Given the description of an element on the screen output the (x, y) to click on. 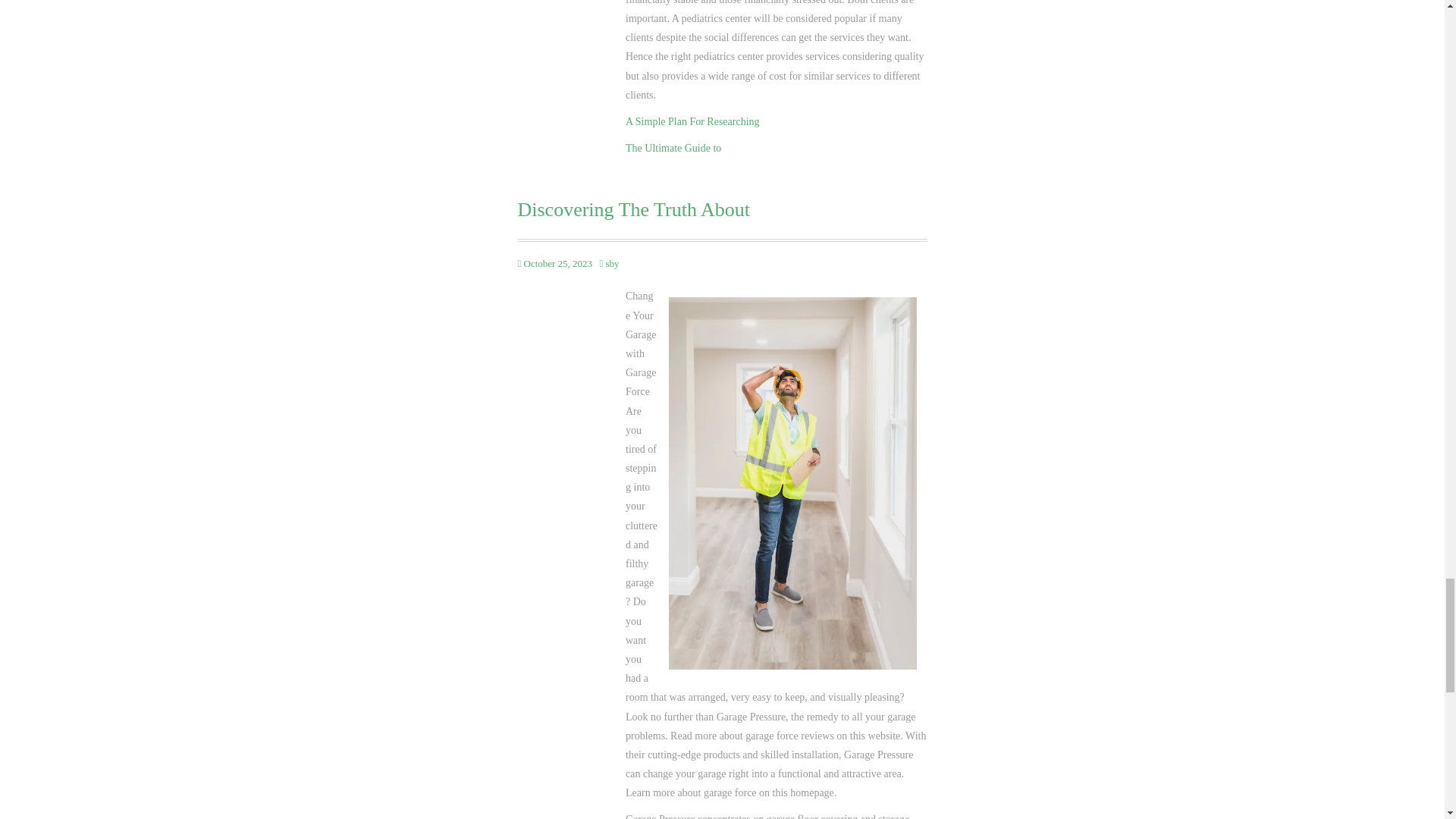
sby (611, 263)
A Simple Plan For Researching (693, 121)
October 25, 2023 (557, 263)
The Ultimate Guide to (673, 147)
Discovering The Truth About (721, 209)
